Given the description of an element on the screen output the (x, y) to click on. 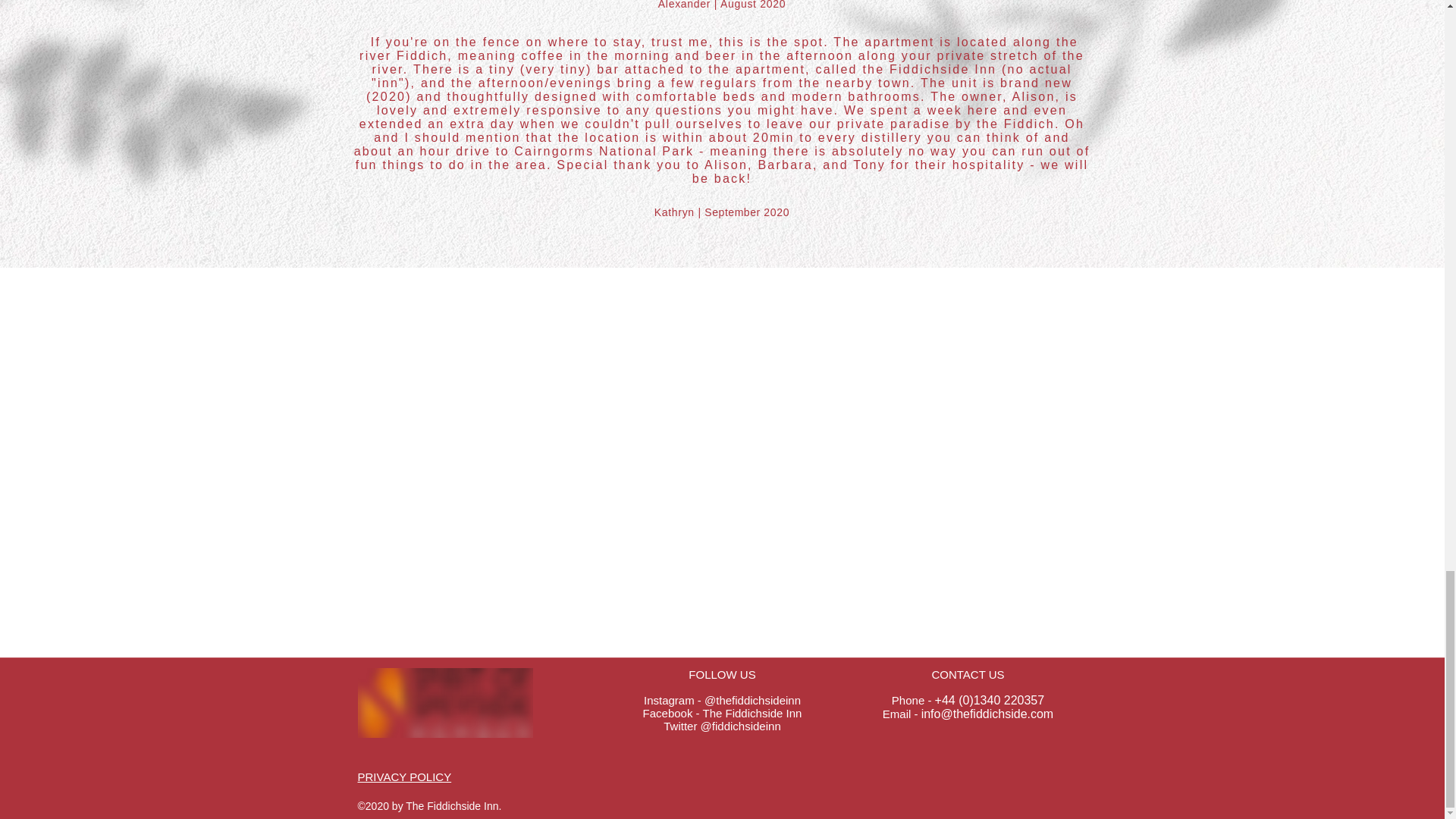
PRIVACY POLICY (404, 776)
Facebook - The Fiddichside Inn (722, 712)
